Given the description of an element on the screen output the (x, y) to click on. 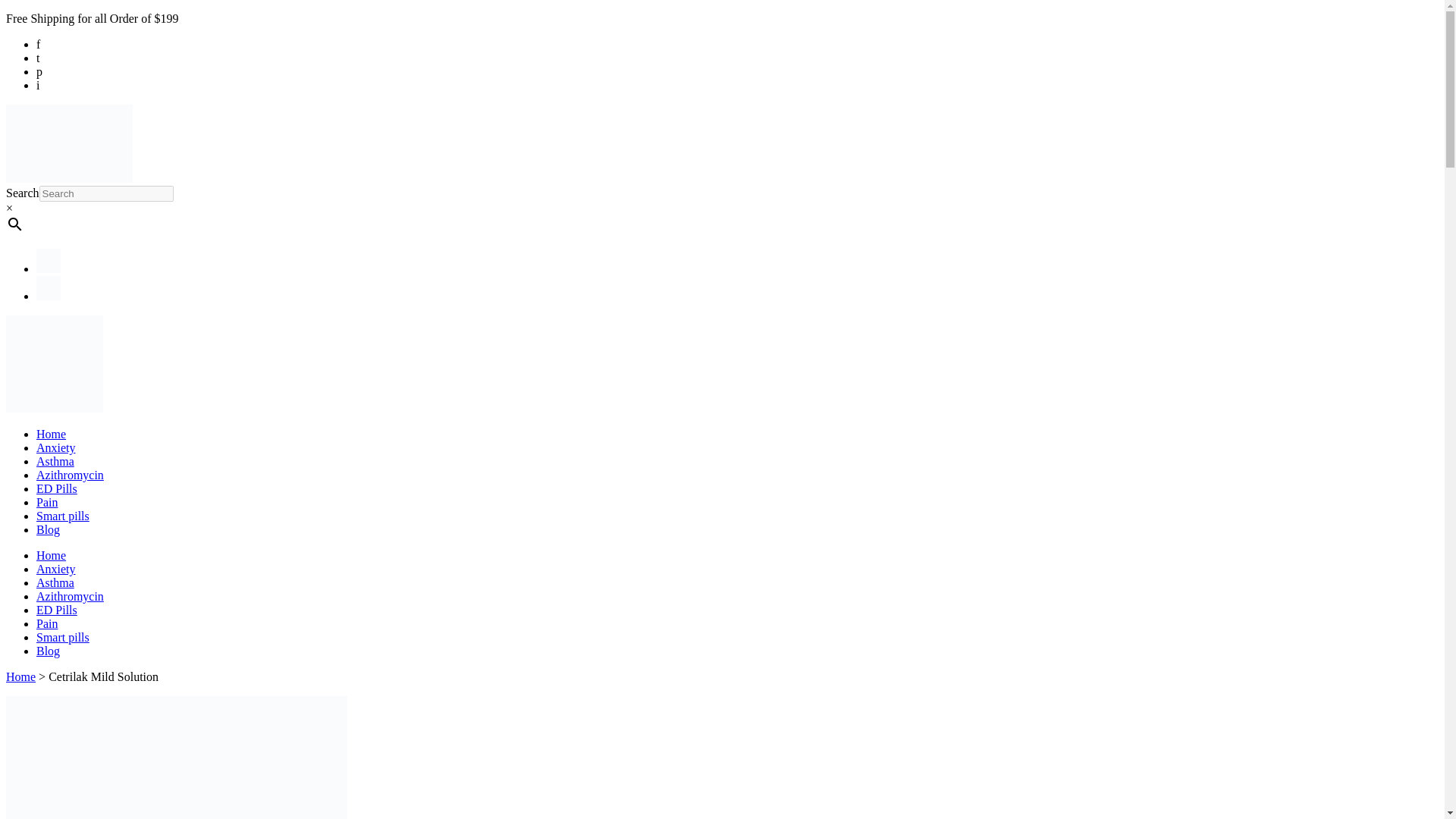
Asthma (55, 582)
Pain (47, 502)
Cart (48, 295)
ED Pills (56, 609)
Home (50, 554)
Azithromycin (69, 474)
Asthma (55, 461)
ED Pills (56, 488)
Pain (47, 623)
Smart pills (62, 515)
Azithromycin (69, 595)
Anxiety (55, 447)
Anxiety (55, 568)
Cetrilak Mild Solution Product Imgage (176, 757)
Smart pills (62, 636)
